Given the description of an element on the screen output the (x, y) to click on. 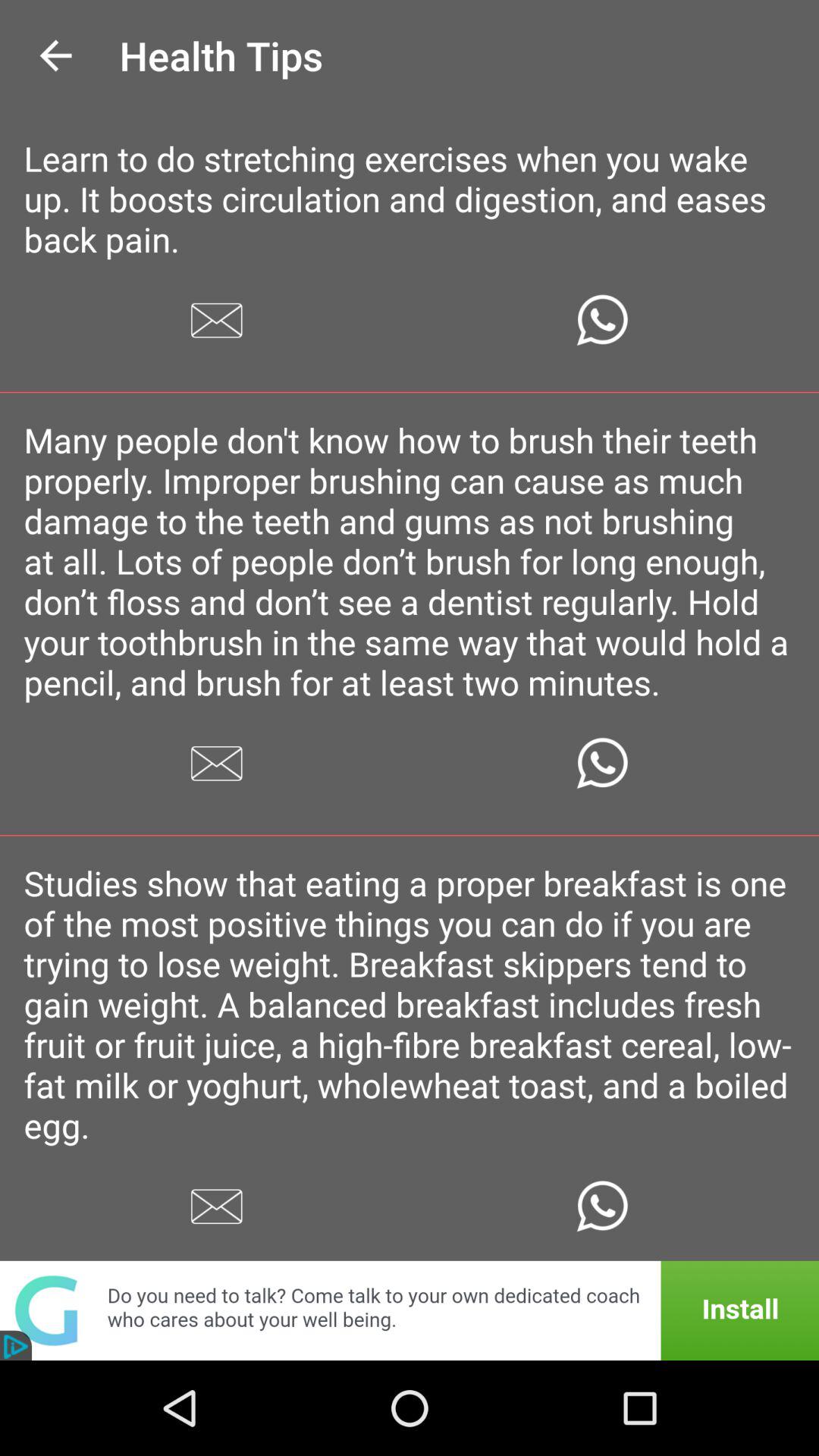
press the garlic onions spring icon (409, 1331)
